Given the description of an element on the screen output the (x, y) to click on. 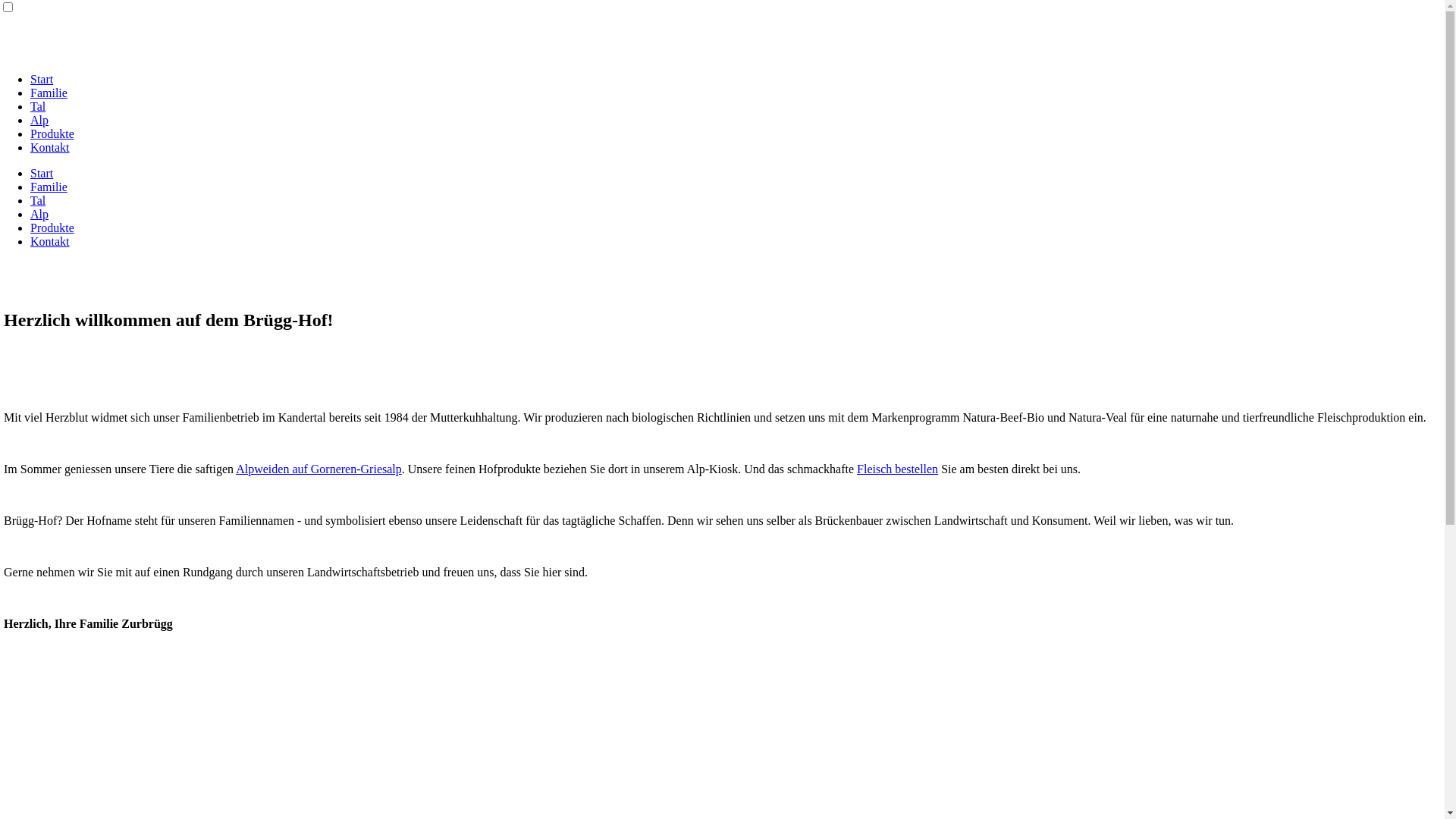
Familie Element type: text (48, 92)
Kontakt Element type: text (49, 147)
Kontakt Element type: text (49, 241)
Familie Element type: text (48, 186)
Produkte Element type: text (52, 133)
Tal Element type: text (37, 106)
Start Element type: text (41, 78)
Alp Element type: text (39, 119)
Alp Element type: text (39, 213)
Tal Element type: text (37, 200)
Fleisch bestellen Element type: text (897, 468)
Alpweiden auf Gorneren-Griesalp Element type: text (318, 468)
Start Element type: text (41, 172)
Produkte Element type: text (52, 227)
